Given the description of an element on the screen output the (x, y) to click on. 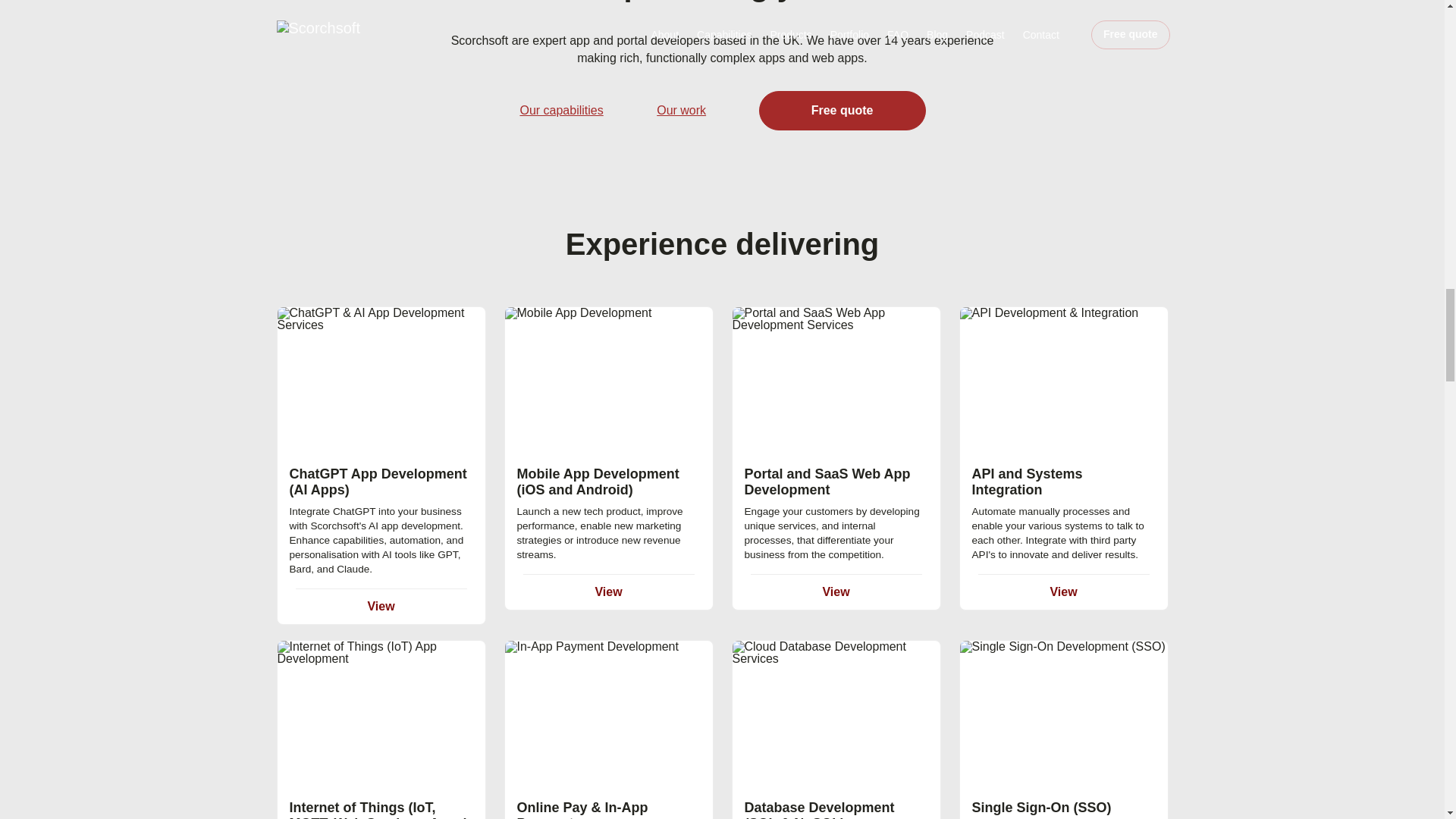
Free quote (842, 110)
Our work (681, 110)
View (607, 591)
View (835, 591)
Our capabilities (561, 110)
View (380, 605)
View (1063, 591)
